Given the description of an element on the screen output the (x, y) to click on. 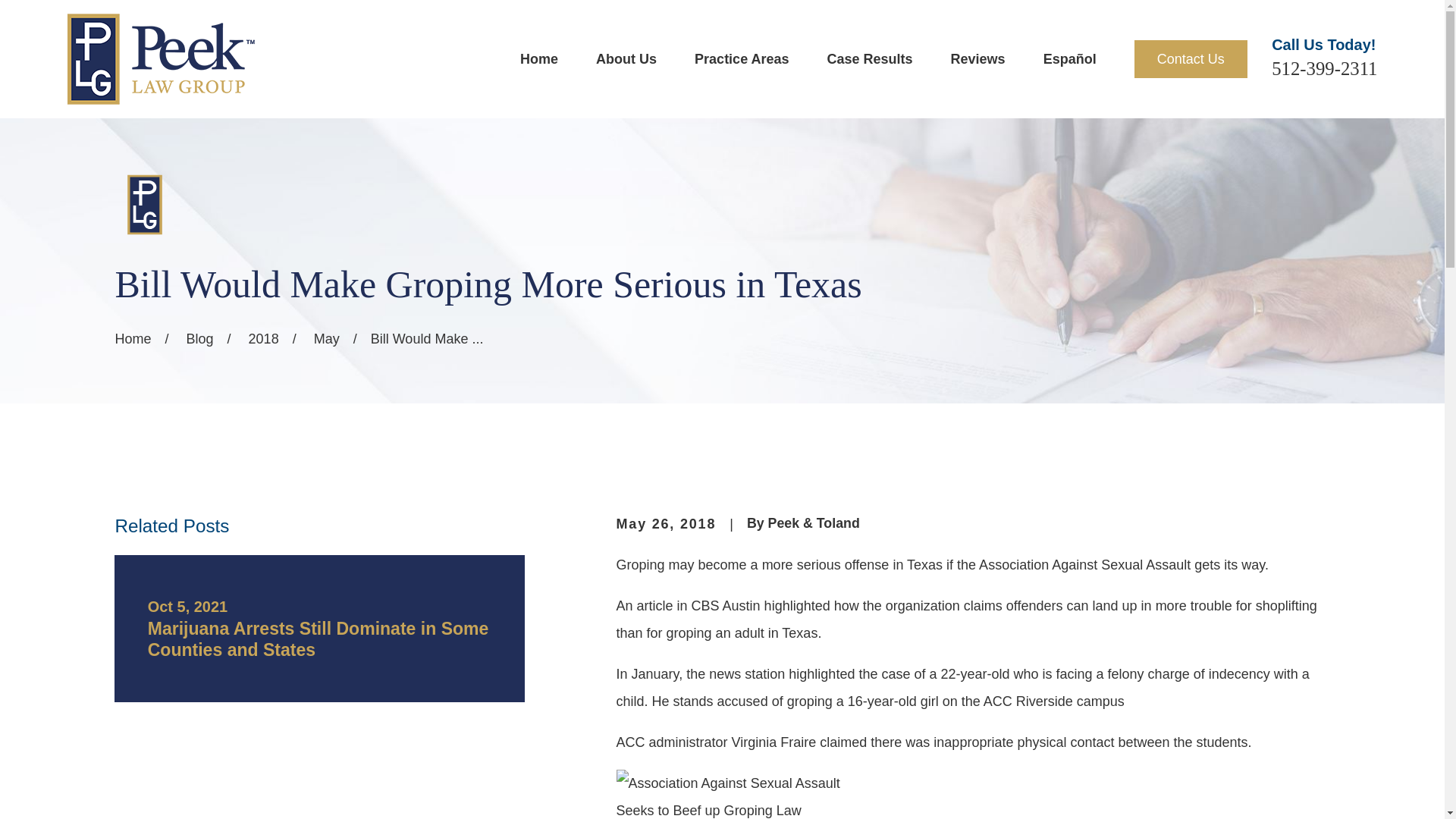
About Us (625, 59)
Go Home (133, 338)
Practice Areas (741, 59)
Reviews (978, 59)
Case Results (869, 59)
Home (159, 58)
